Given the description of an element on the screen output the (x, y) to click on. 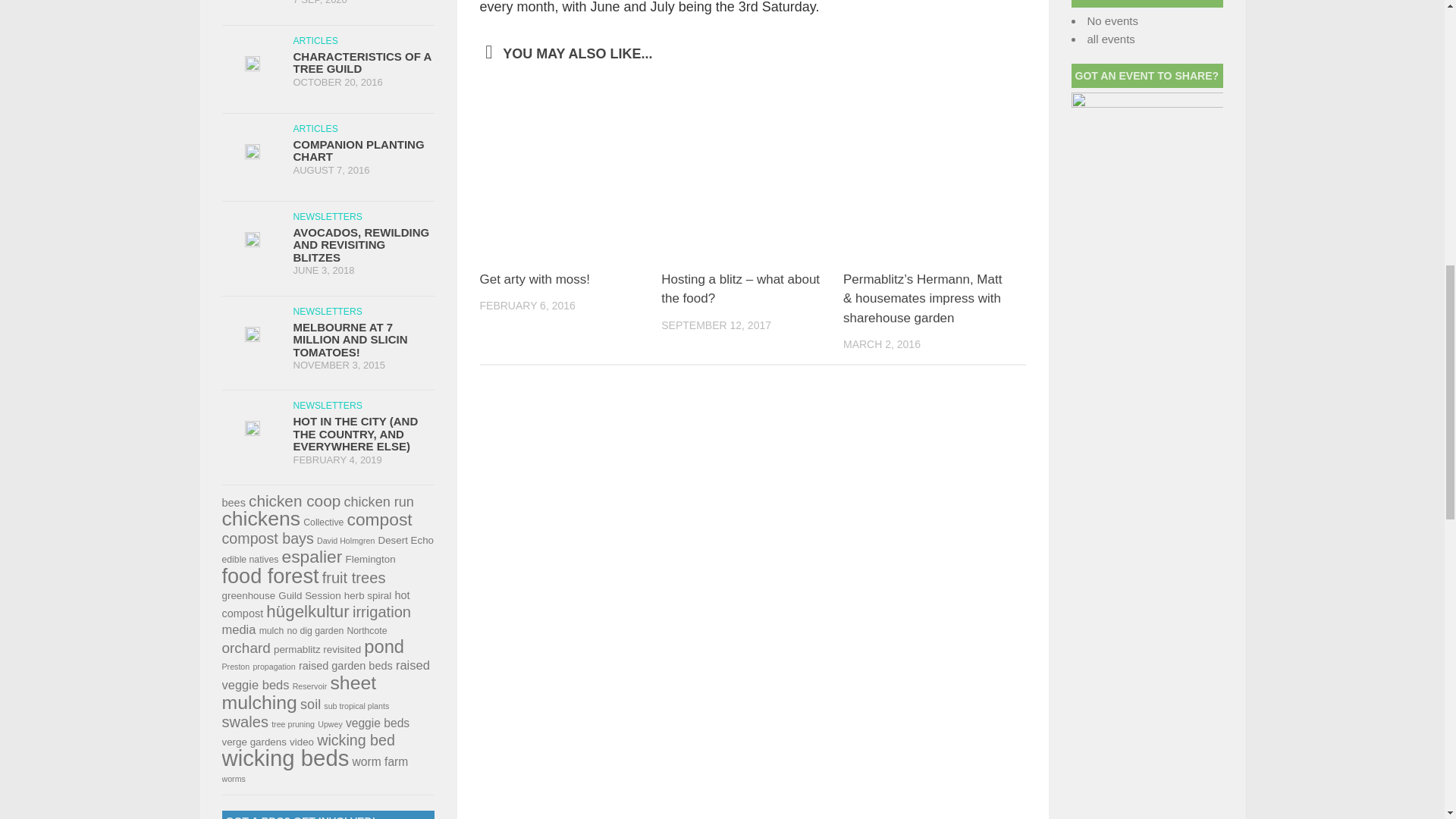
Get arty with moss! (534, 278)
